Given the description of an element on the screen output the (x, y) to click on. 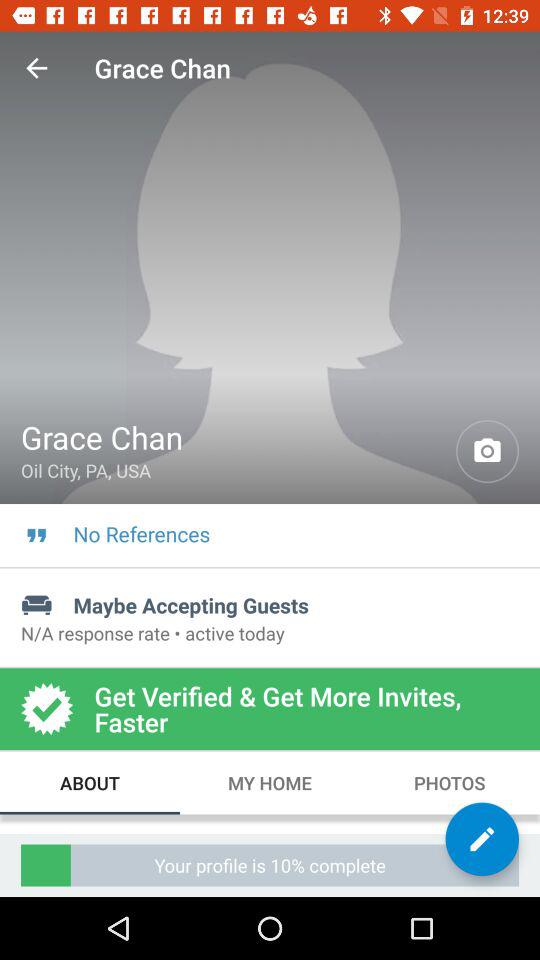
update profile picture (487, 451)
